Given the description of an element on the screen output the (x, y) to click on. 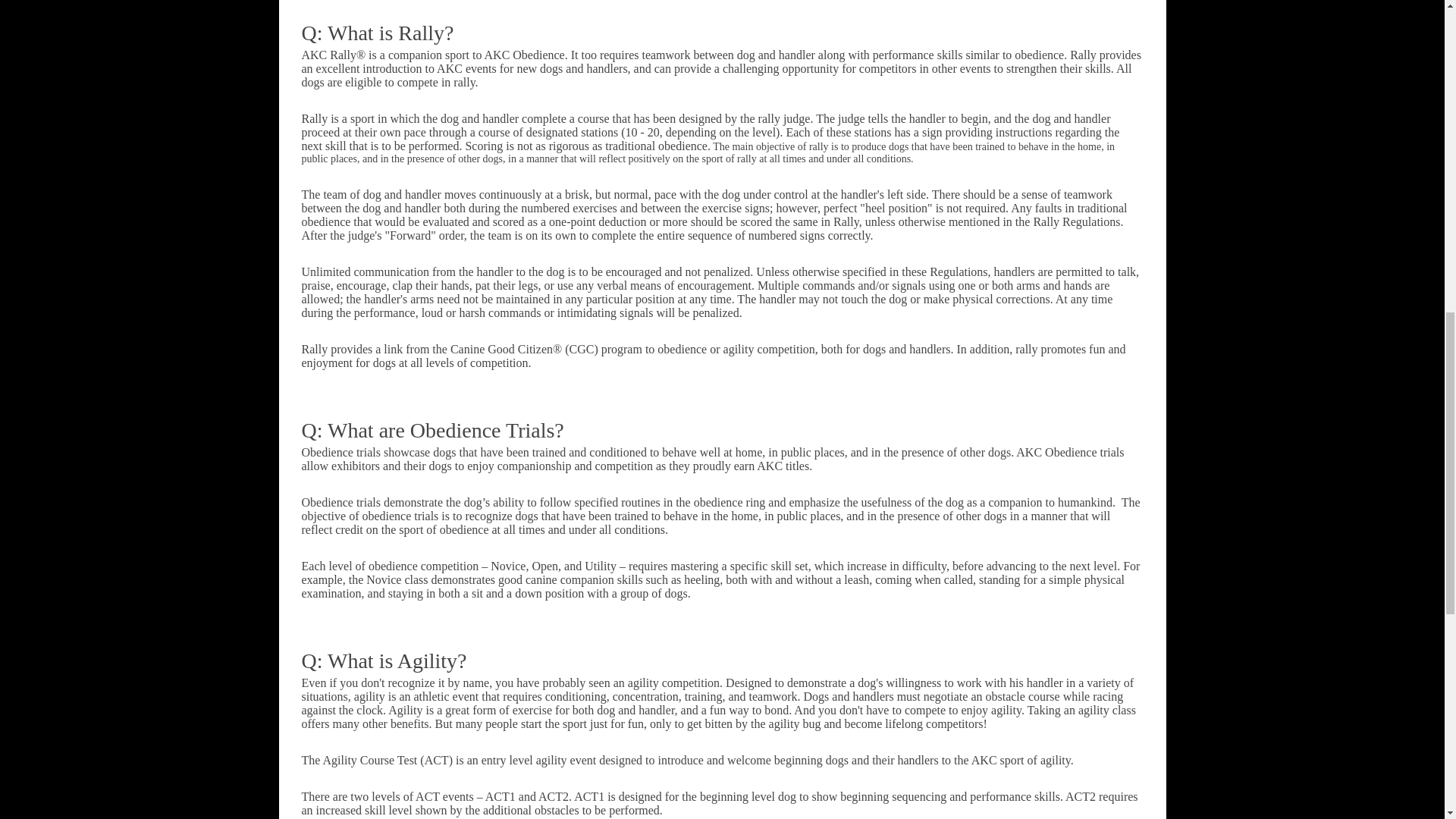
Q: What are Obedience Trials? (432, 430)
Q: What is Rally? (377, 33)
Q: What is Agility? (384, 660)
